Given the description of an element on the screen output the (x, y) to click on. 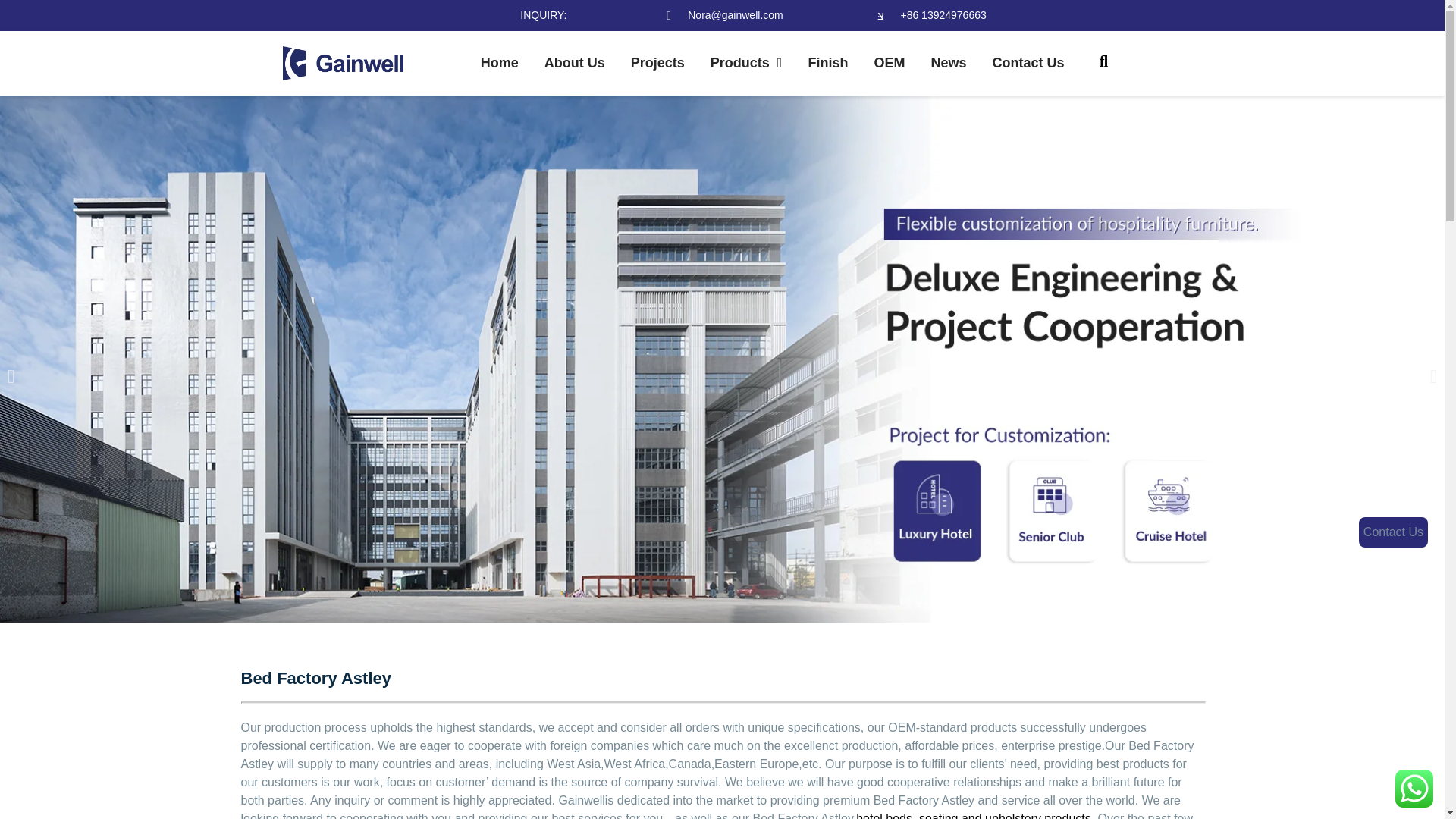
hotel beds (884, 815)
Projects (657, 63)
Products (745, 63)
seating and upholstery products (1004, 815)
OEM (888, 63)
About Us (574, 63)
Home (499, 63)
Contact Us (1027, 63)
News (947, 63)
Finish (827, 63)
